Given the description of an element on the screen output the (x, y) to click on. 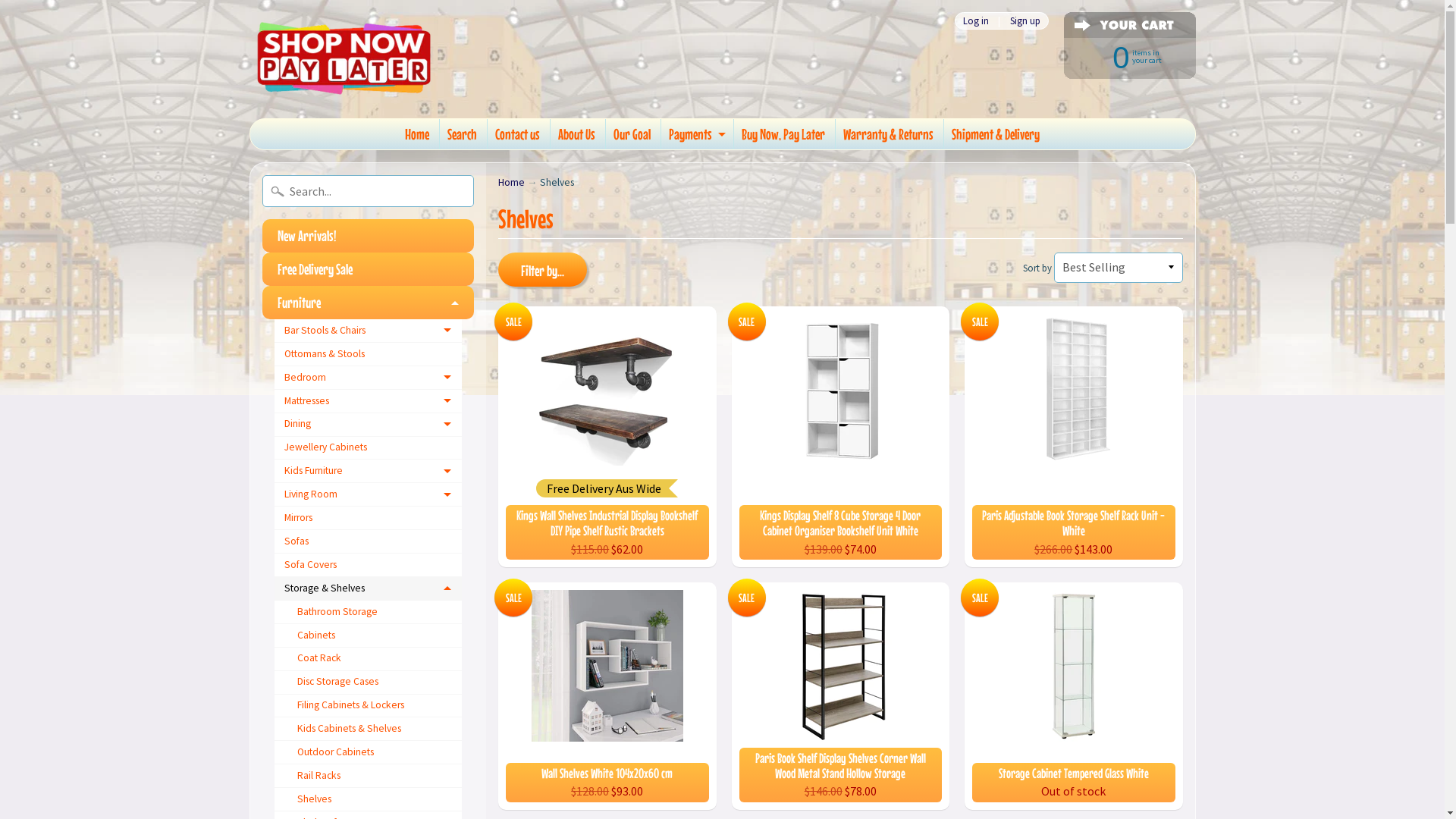
Wall Shelves White 104x20x60 cm
$128.00 $93.00
SALE Element type: text (607, 695)
New Arrivals! Element type: text (368, 235)
Sofas Element type: text (368, 541)
Kids Furniture Element type: text (368, 471)
Bar Stools & Chairs Element type: text (368, 330)
Cabinets Element type: text (368, 635)
Mirrors Element type: text (368, 518)
Storage & Shelves Element type: text (368, 588)
Bedroom Element type: text (368, 377)
About Us Element type: text (576, 134)
Coat Rack Element type: text (368, 659)
Sign up Element type: text (1024, 20)
Filing Cabinets & Lockers Element type: text (368, 706)
Free Delivery Sale Element type: text (368, 268)
Kids Cabinets & Shelves Element type: text (368, 728)
Furniture Element type: text (368, 302)
Jewellery Cabinets Element type: text (368, 448)
Rail Racks Element type: text (368, 775)
Ottomans & Stools Element type: text (368, 354)
Filter by... Element type: text (542, 269)
Shelves Element type: text (368, 799)
Outdoor Cabinets Element type: text (368, 752)
Payments Element type: text (696, 134)
Disc Storage Cases Element type: text (368, 682)
Contact us Element type: text (517, 134)
Dining Element type: text (368, 424)
Buy Now, Pay Later Element type: text (783, 134)
Shipment & Delivery Element type: text (995, 134)
Search Element type: text (461, 134)
Home Element type: text (511, 181)
Bathroom Storage Element type: text (368, 612)
Storage Cabinet Tempered Glass White
Out of stock
SALE Element type: text (1073, 695)
0
items in your cart Element type: text (1122, 56)
KingsWarehouse Element type: hover (343, 59)
Home Element type: text (416, 134)
Our Goal Element type: text (631, 134)
Living Room Element type: text (368, 494)
Warranty & Returns Element type: text (888, 134)
Sofa Covers Element type: text (368, 565)
Mattresses Element type: text (368, 401)
Log in Element type: text (975, 20)
